Given the description of an element on the screen output the (x, y) to click on. 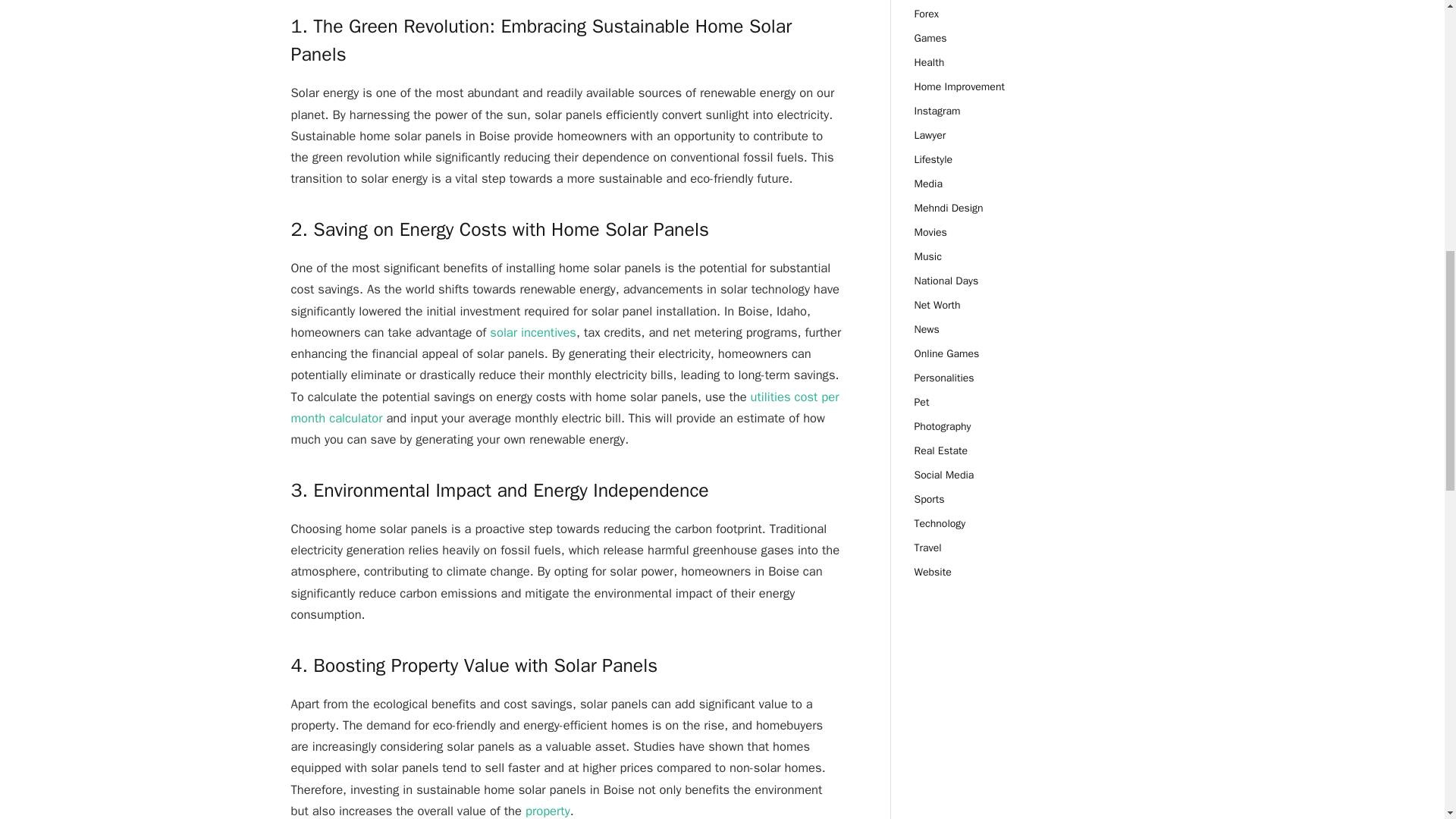
utilities cost per month calculator (565, 407)
property (547, 811)
solar incentives (532, 332)
